Given the description of an element on the screen output the (x, y) to click on. 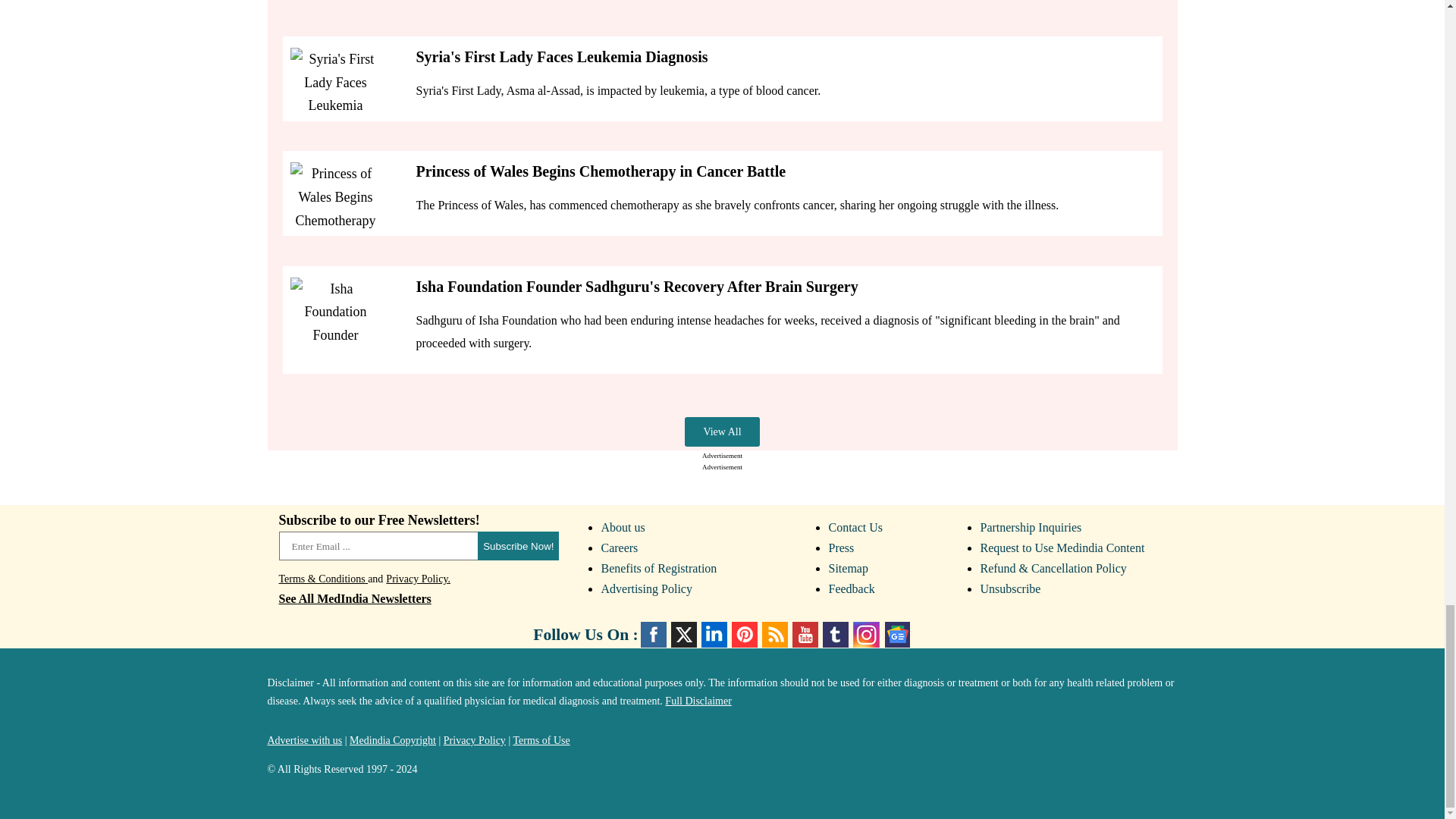
Syria's First Lady Faces Leukemia Diagnosis (334, 85)
Subscribe Now! (518, 545)
